Given the description of an element on the screen output the (x, y) to click on. 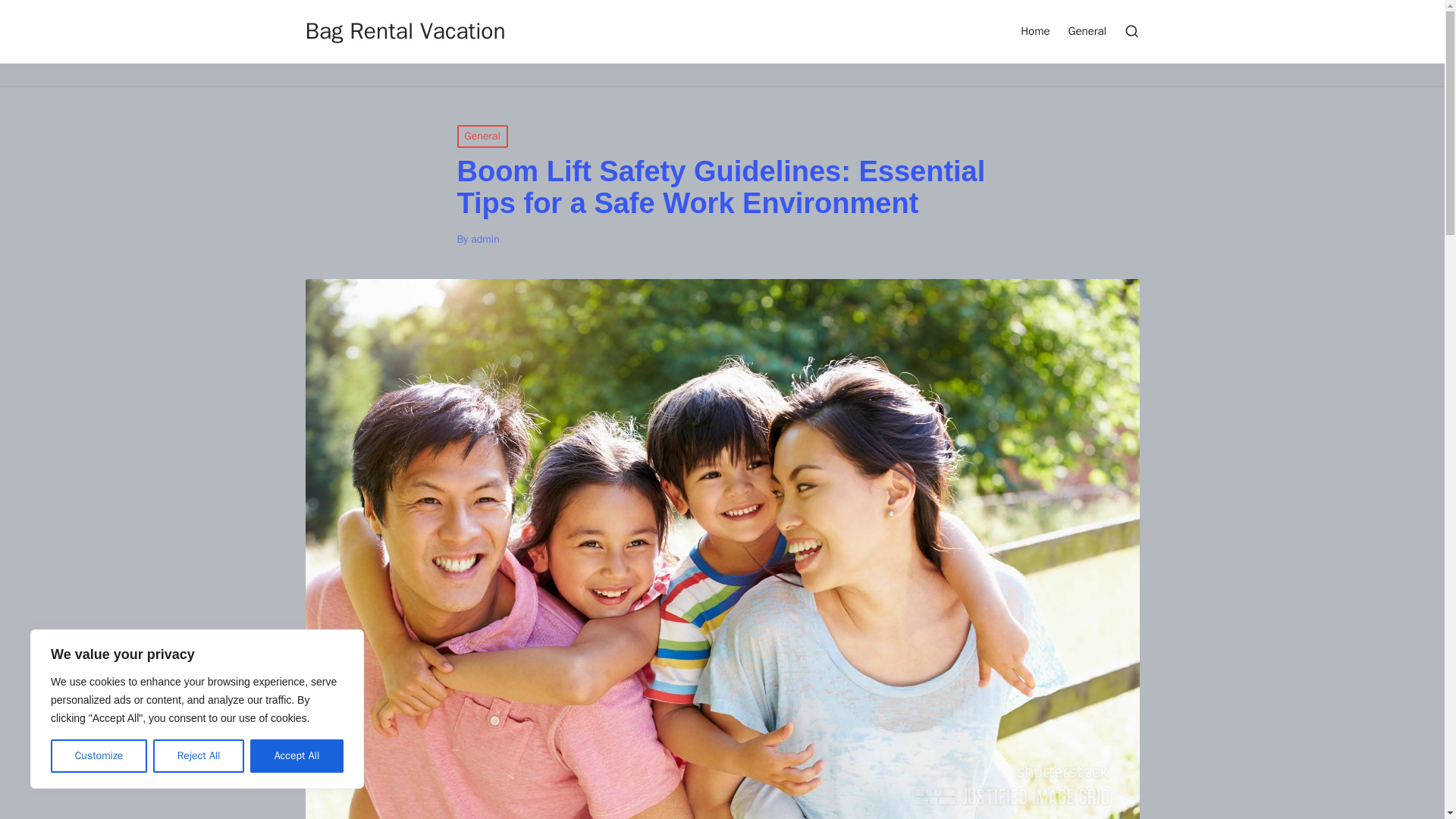
Bag Rental Vacation (404, 31)
General (1087, 30)
Reject All (198, 756)
admin (484, 238)
General (481, 136)
Home (1034, 30)
View all posts by  (484, 238)
Customize (98, 756)
Accept All (296, 756)
